Given the description of an element on the screen output the (x, y) to click on. 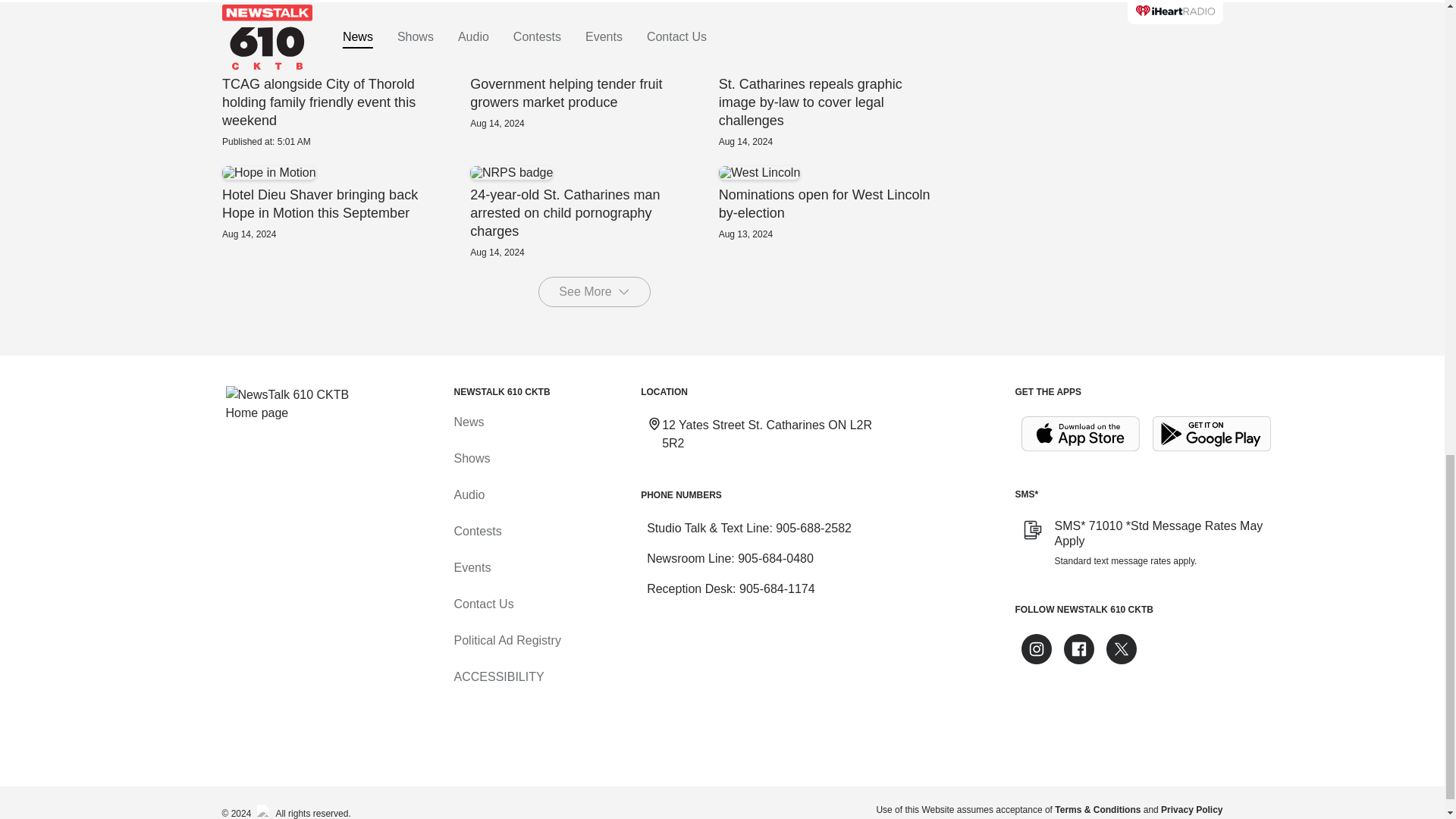
Accessibility (497, 676)
Contests (476, 530)
Get it on Google Play (1212, 434)
905-684-0480 (775, 558)
Privacy Policy (1191, 809)
Government helping tender fruit growers market produce (593, 92)
905-684-1174 (777, 588)
ACCESSIBILITY (497, 676)
